Given the description of an element on the screen output the (x, y) to click on. 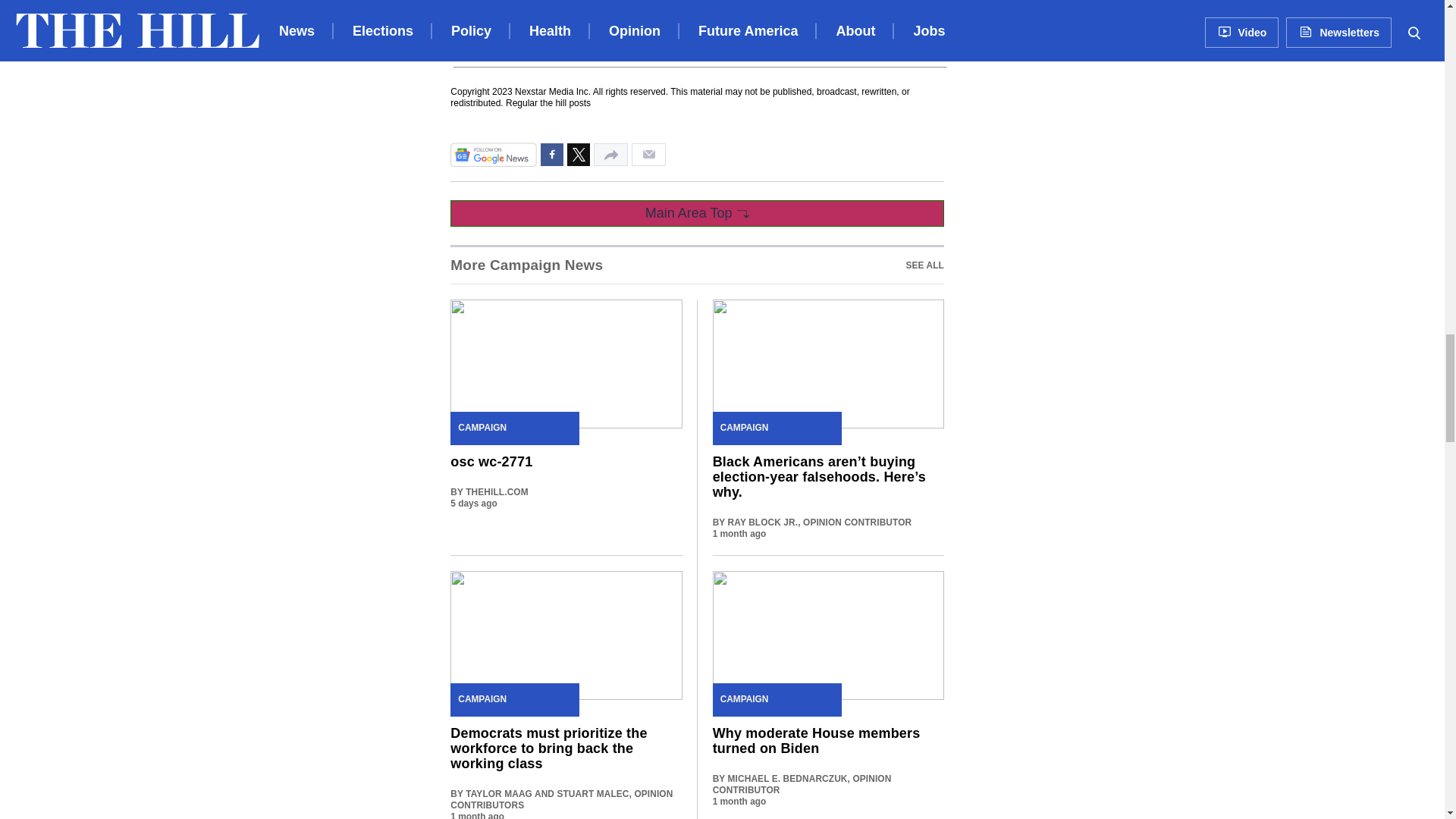
SEE ALL (924, 264)
More Campaign News (696, 264)
SEE ALL (525, 265)
